Given the description of an element on the screen output the (x, y) to click on. 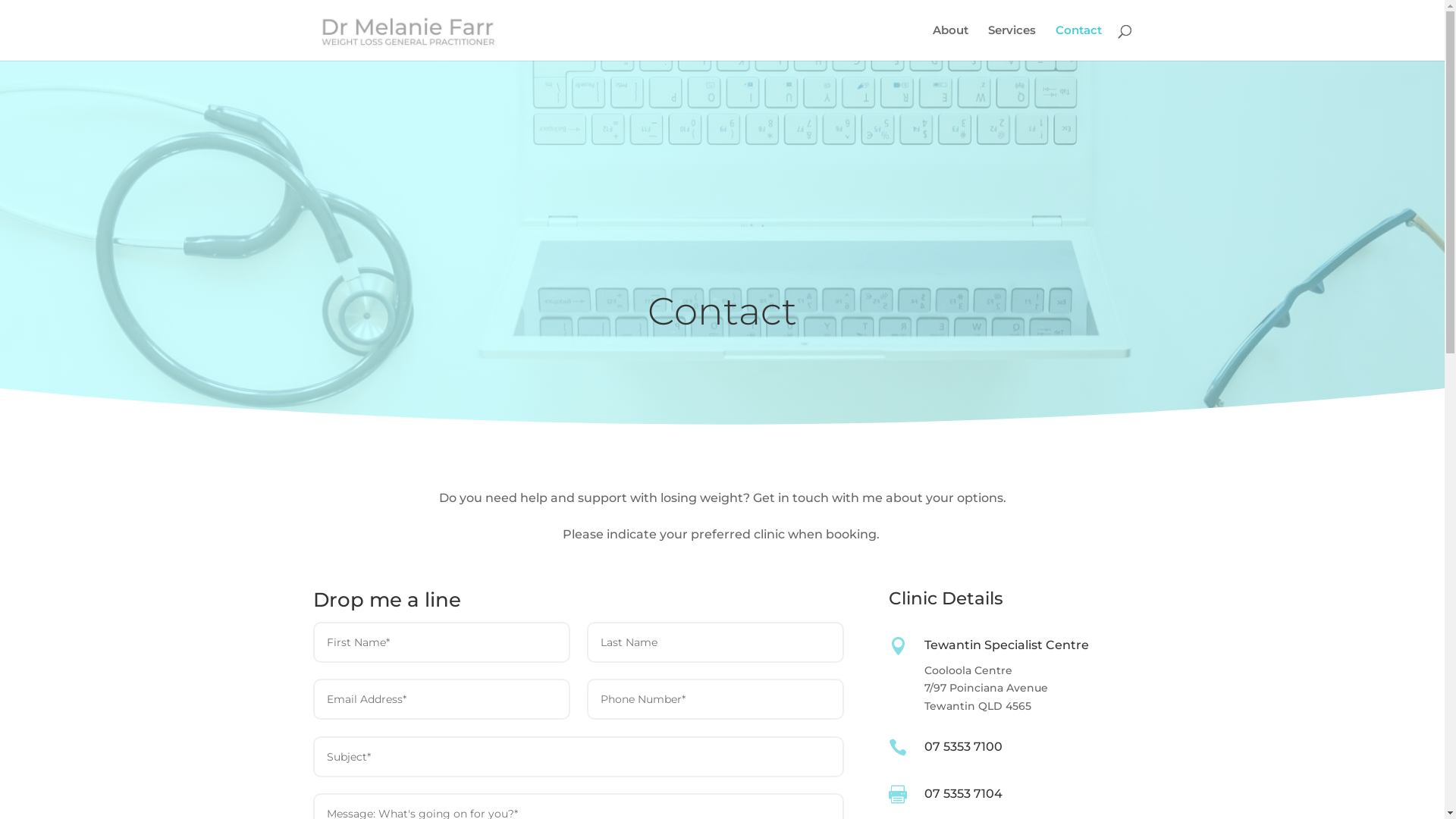
Contact Element type: text (1078, 42)
Only numbers allowed.Minimum length: 10 characters.  Element type: hover (715, 698)
Services Element type: text (1011, 42)
About Element type: text (950, 42)
